Given the description of an element on the screen output the (x, y) to click on. 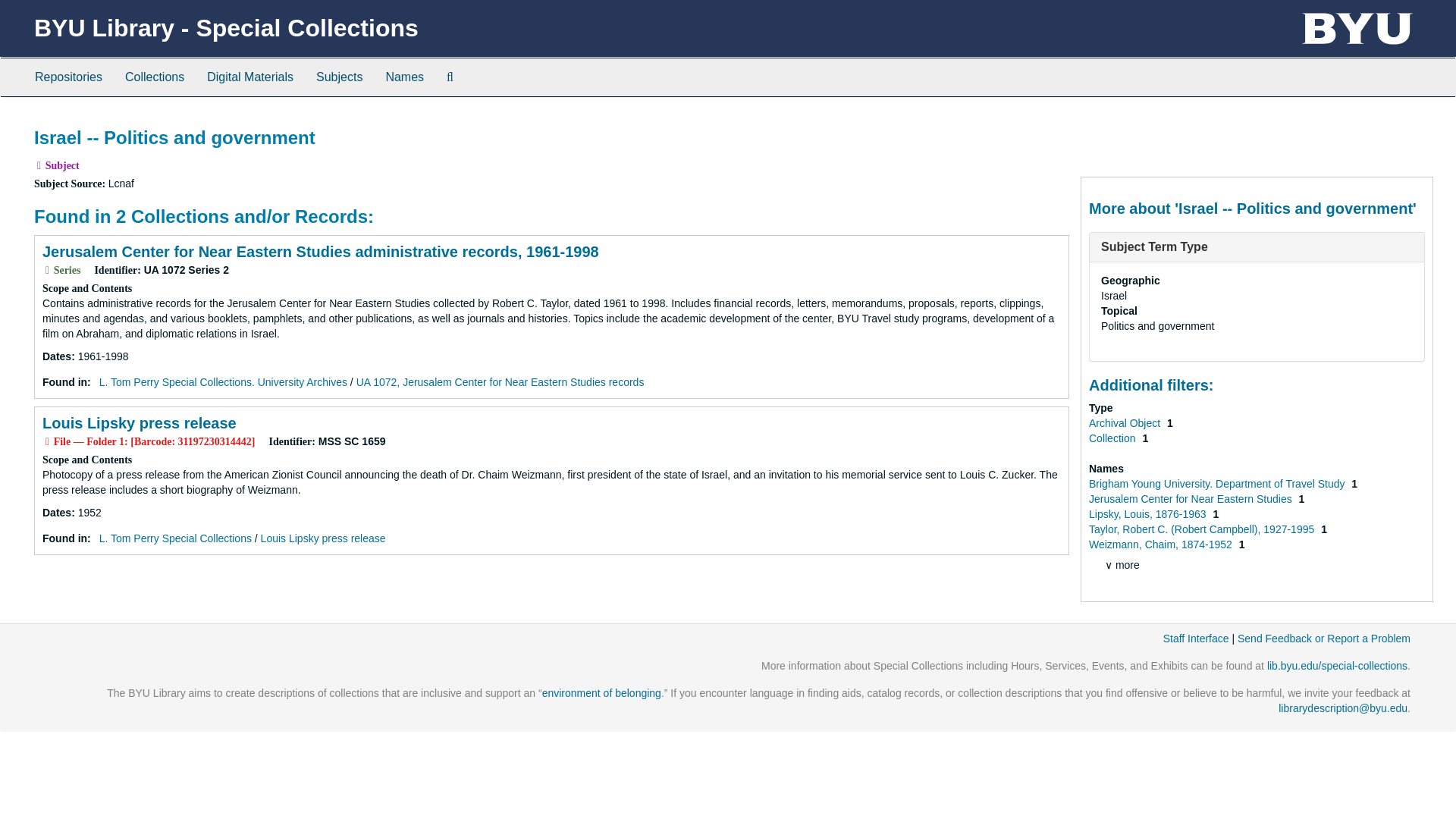
UA 1072, Jerusalem Center for Near Eastern Studies records (500, 381)
BYU Library - Special Collections (226, 27)
Filter By 'Jerusalem Center for Near Eastern Studies' (1192, 499)
Return to the homepage (226, 27)
Subject Term Type (1154, 246)
Collection (1113, 438)
Louis Lipsky press release (138, 422)
Weizmann, Chaim, 1874-1952 (1161, 544)
L. Tom Perry Special Collections. University Archives (223, 381)
Digital Materials (249, 77)
L. Tom Perry Special Collections (175, 538)
Subjects (339, 77)
Staff Interface (1195, 638)
Lipsky, Louis, 1876-1963 (1149, 513)
